Given the description of an element on the screen output the (x, y) to click on. 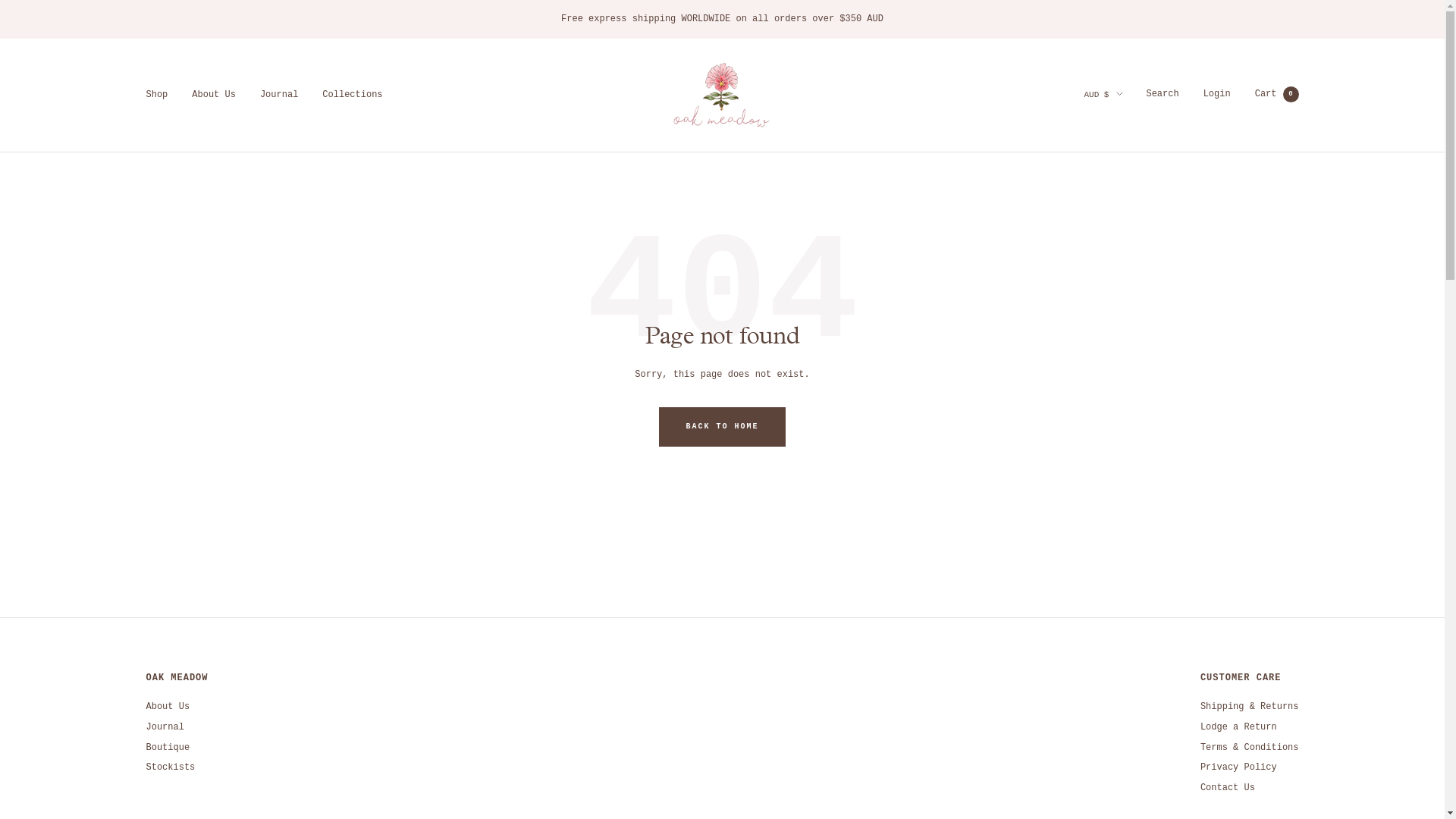
Lodge a Return Element type: text (1238, 727)
EUR Element type: text (1089, 796)
BZD Element type: text (1089, 501)
AWG Element type: text (1089, 269)
AZN Element type: text (1089, 290)
CVE Element type: text (1089, 628)
BIF Element type: text (1089, 396)
Cart
0 Element type: text (1277, 93)
Privacy Policy Element type: text (1238, 767)
BDT Element type: text (1089, 354)
DZD Element type: text (1089, 733)
Oak Meadow Clothing Element type: text (721, 95)
Terms & Conditions Element type: text (1249, 748)
BND Element type: text (1089, 417)
DJF Element type: text (1089, 670)
BBD Element type: text (1089, 333)
Login Element type: text (1216, 93)
Shop Element type: text (156, 95)
Journal Element type: text (279, 95)
BACK TO HOME Element type: text (721, 426)
CAD Element type: text (1089, 522)
AMD Element type: text (1089, 206)
Journal Element type: text (164, 727)
BGN Element type: text (1089, 374)
AED Element type: text (1089, 143)
DOP Element type: text (1089, 712)
EGP Element type: text (1089, 754)
CDF Element type: text (1089, 544)
Search Element type: text (1161, 93)
CNY Element type: text (1089, 585)
Contact Us Element type: text (1227, 788)
CHF Element type: text (1089, 565)
Shipping & Returns Element type: text (1249, 707)
ETB Element type: text (1089, 776)
ANG Element type: text (1089, 227)
Collections Element type: text (352, 95)
About Us Element type: text (213, 95)
AUD $ Element type: text (1103, 94)
AUD Element type: text (1089, 249)
BOB Element type: text (1089, 438)
Boutique Element type: text (167, 748)
BWP Element type: text (1089, 480)
ALL Element type: text (1089, 185)
BSD Element type: text (1089, 459)
AFN Element type: text (1089, 164)
CRC Element type: text (1089, 607)
About Us Element type: text (167, 707)
DKK Element type: text (1089, 691)
BAM Element type: text (1089, 312)
CZK Element type: text (1089, 649)
Stockists Element type: text (169, 767)
